Given the description of an element on the screen output the (x, y) to click on. 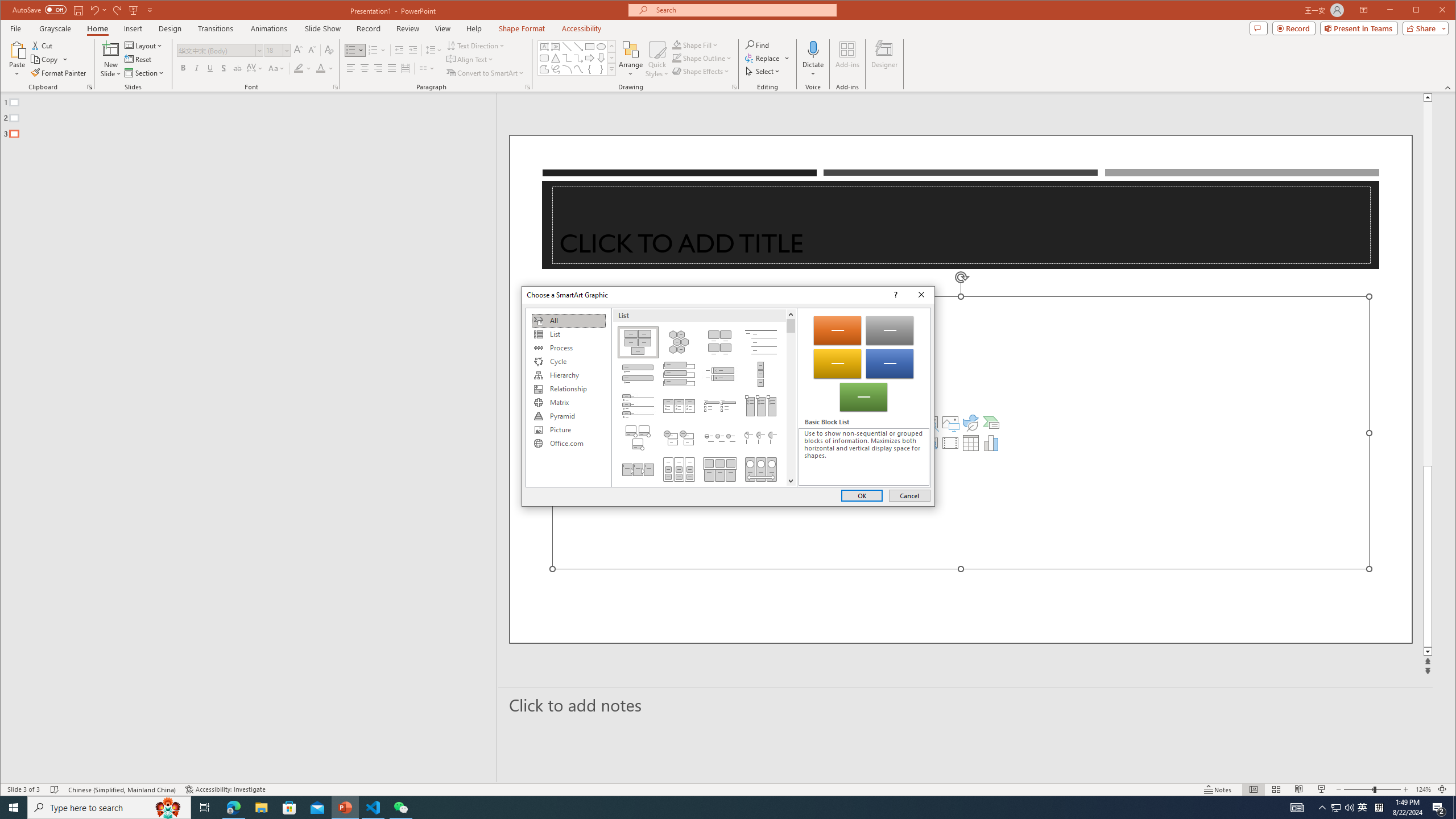
Rectangle (242, 436)
Arrow: Right (589, 57)
Search highlights icon opens search home window (167, 807)
Text Box (1335, 807)
Freeform: Shape (544, 46)
Pictures (544, 69)
Row up (949, 422)
Shadow (611, 46)
Shape Fill Orange, Accent 2 (224, 68)
Basic Block List (676, 44)
